Given the description of an element on the screen output the (x, y) to click on. 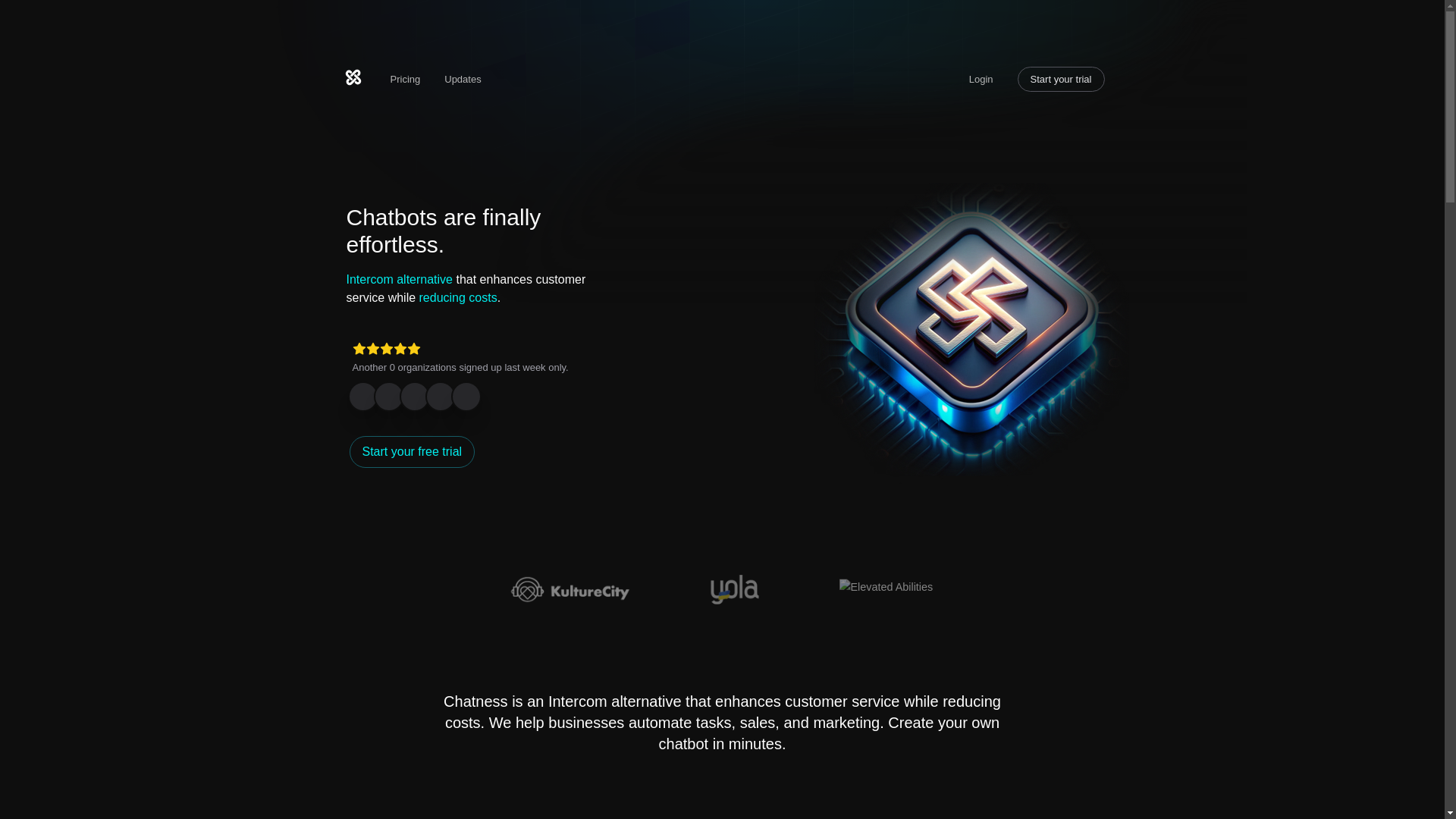
Login (980, 79)
Pricing (405, 79)
Start your trial (1061, 78)
Start your free trial (411, 450)
Updates (462, 79)
